Given the description of an element on the screen output the (x, y) to click on. 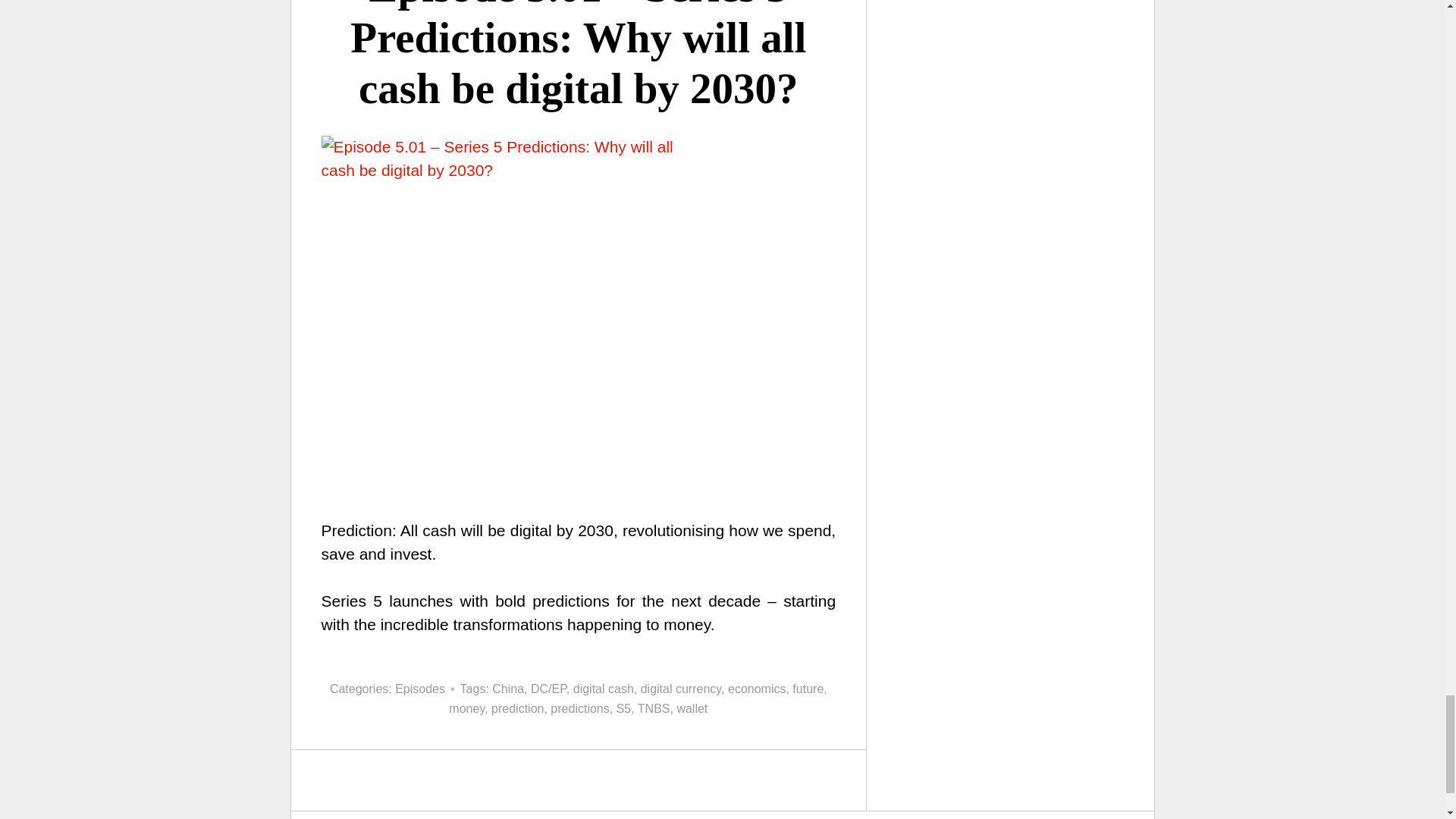
Why will all cash will be digital by 2030? (578, 429)
